Given the description of an element on the screen output the (x, y) to click on. 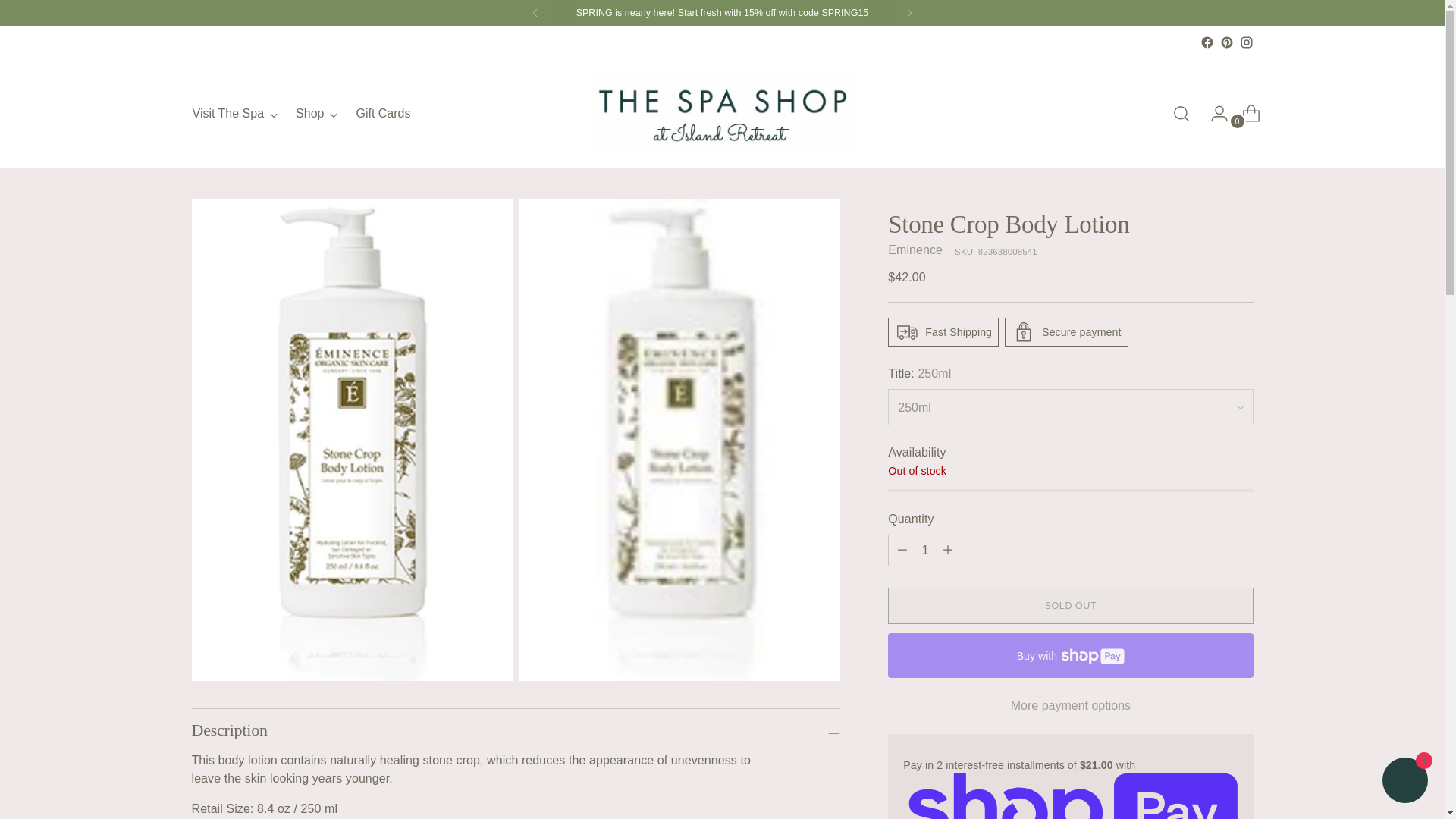
Previous (534, 12)
Visit The Spa (235, 113)
Island Retreat Spa Shop on Facebook (1205, 42)
1 (300, 113)
Island Retreat Spa Shop on Pinterest (925, 550)
Eminence (1226, 42)
Shop (915, 249)
Next (316, 113)
Island Retreat Spa Shop on Instagram (909, 12)
